Given the description of an element on the screen output the (x, y) to click on. 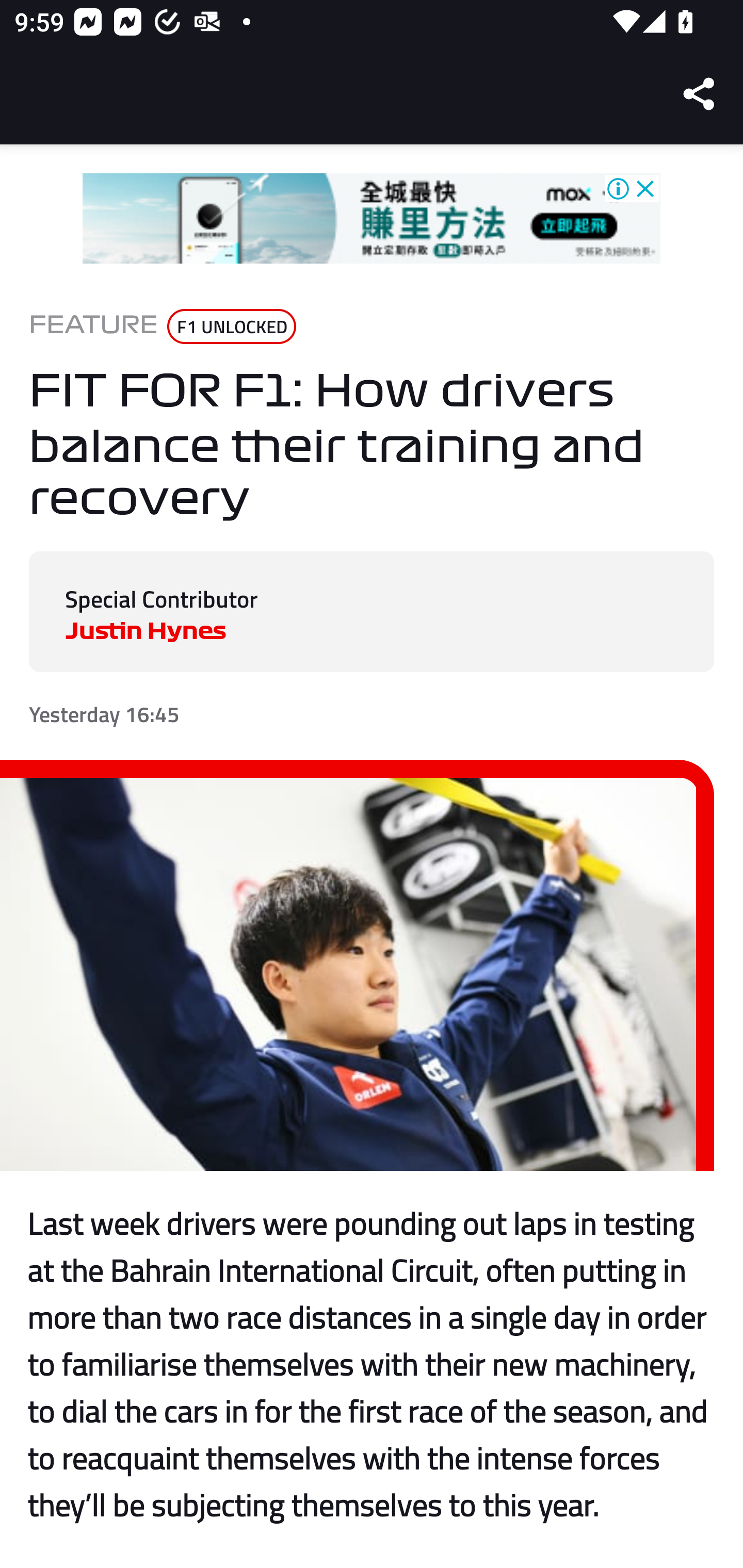
Share (699, 93)
Advertisement (371, 218)
